Given the description of an element on the screen output the (x, y) to click on. 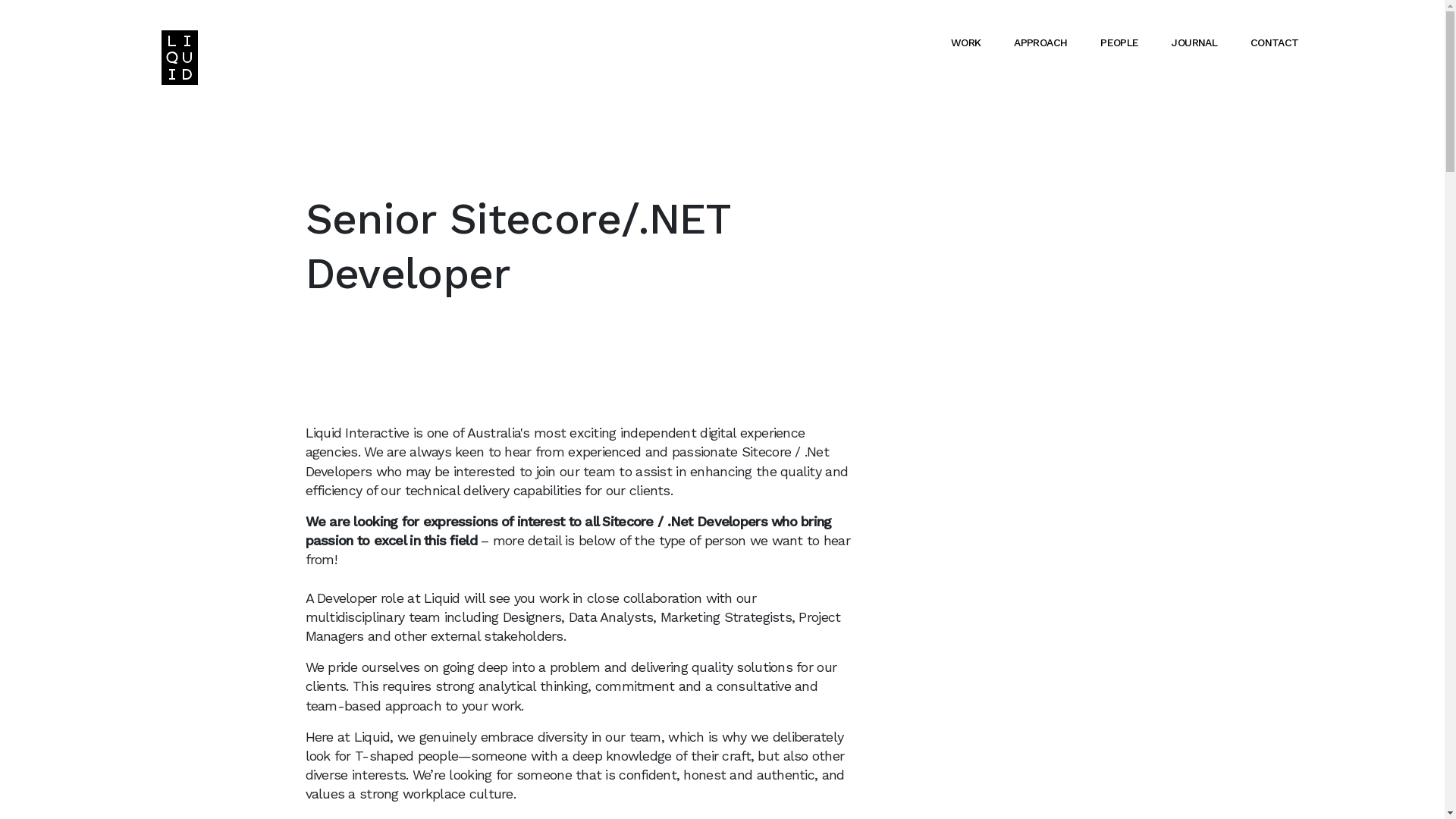
JOURNAL Element type: text (1194, 42)
WORK Element type: text (965, 42)
CONTACT Element type: text (1274, 42)
APPROACH Element type: text (1039, 42)
PEOPLE Element type: text (1119, 42)
